Given the description of an element on the screen output the (x, y) to click on. 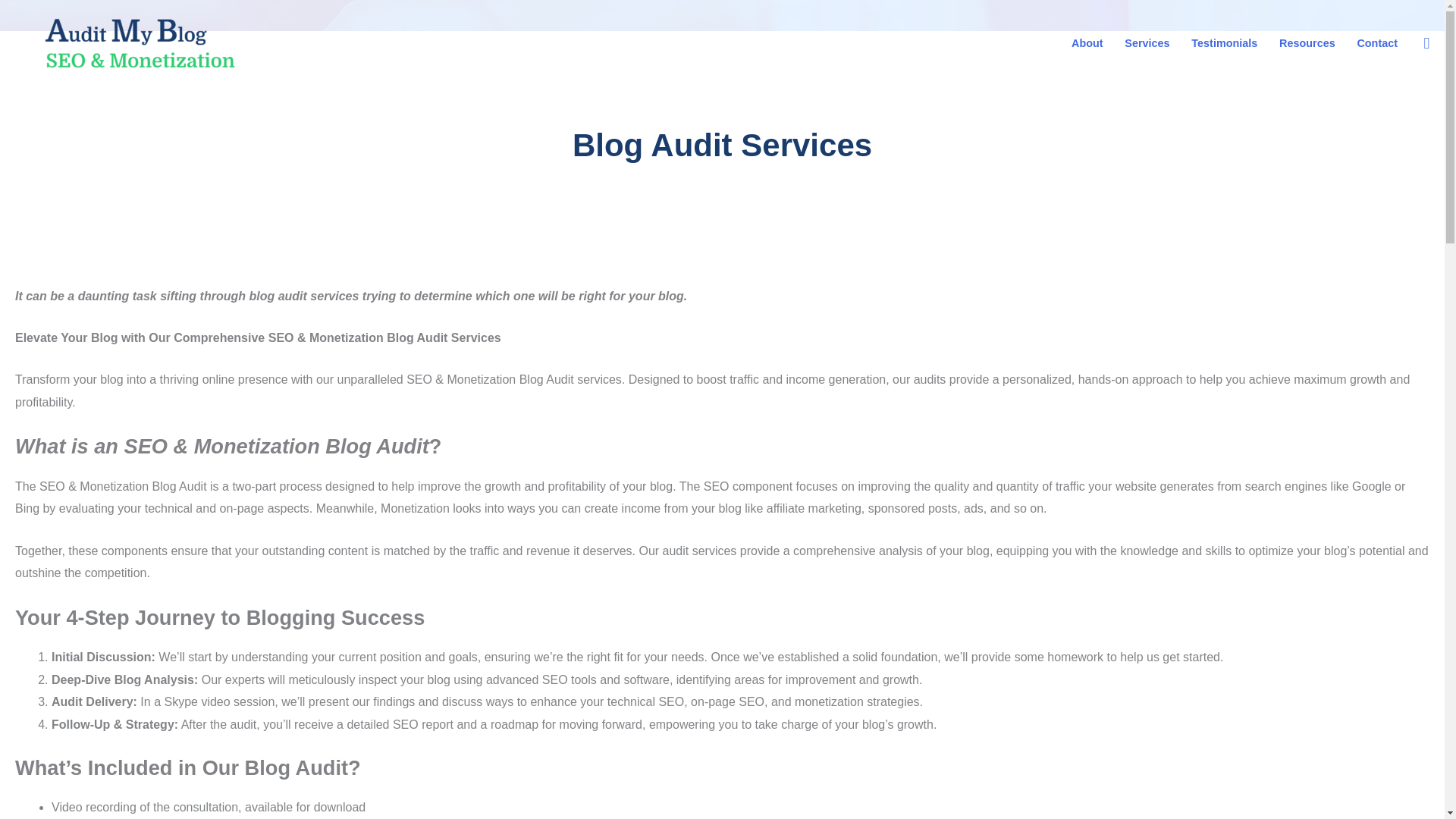
Contact (1376, 43)
Resources (1306, 43)
Services (1146, 43)
About (1087, 43)
Testimonials (1224, 43)
